Given the description of an element on the screen output the (x, y) to click on. 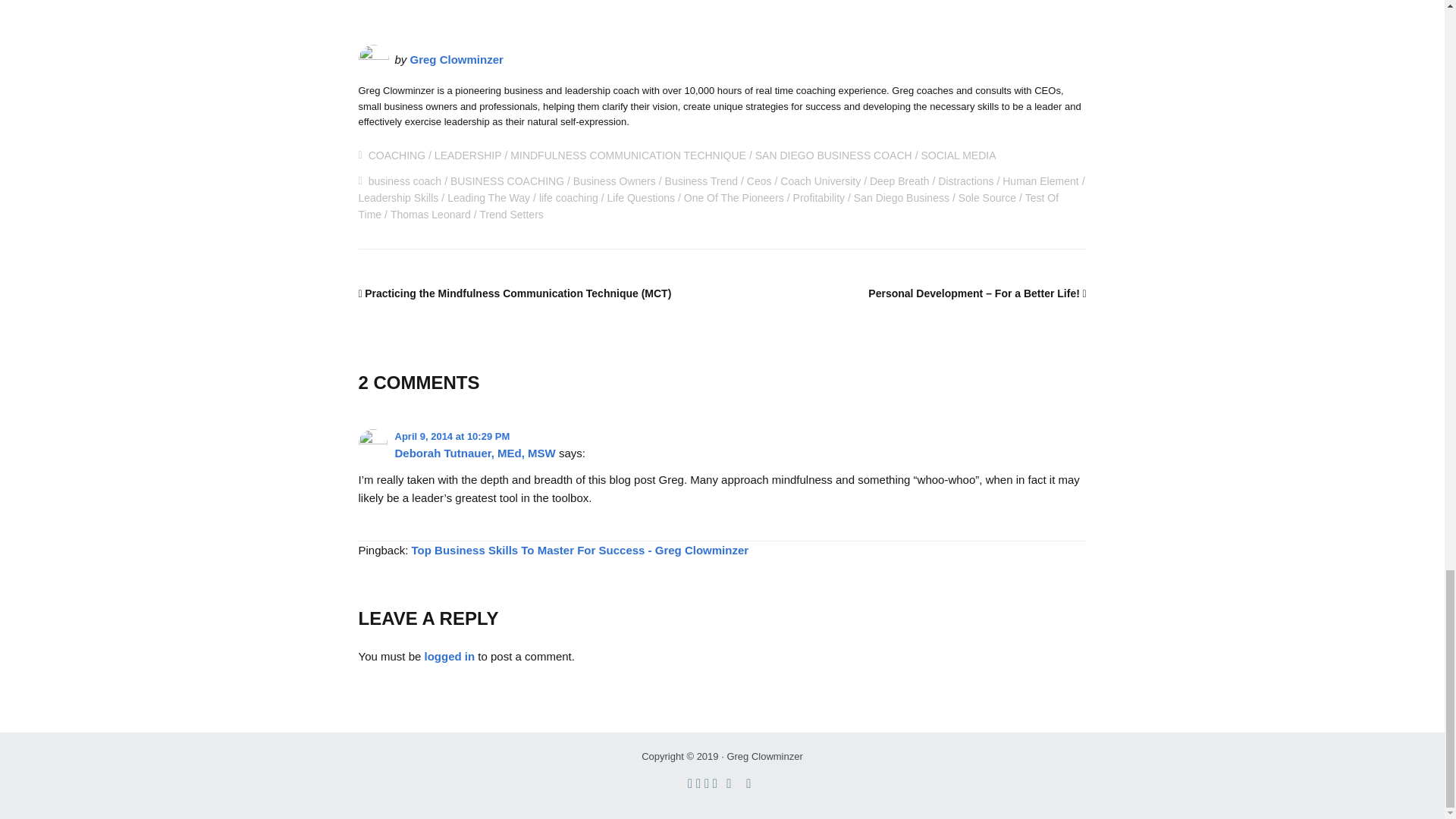
Business Owners (614, 181)
SOCIAL MEDIA (957, 155)
business coach (405, 181)
Human Element (1040, 181)
One Of The Pioneers (734, 197)
Leading The Way (487, 197)
Life Questions (641, 197)
MINDFULNESS COMMUNICATION TECHNIQUE (628, 155)
Leadership Skills (398, 197)
Business Trend (701, 181)
Greg Clowminzer (456, 59)
Profitability (818, 197)
LEADERSHIP (467, 155)
life coaching (568, 197)
COACHING (396, 155)
